Given the description of an element on the screen output the (x, y) to click on. 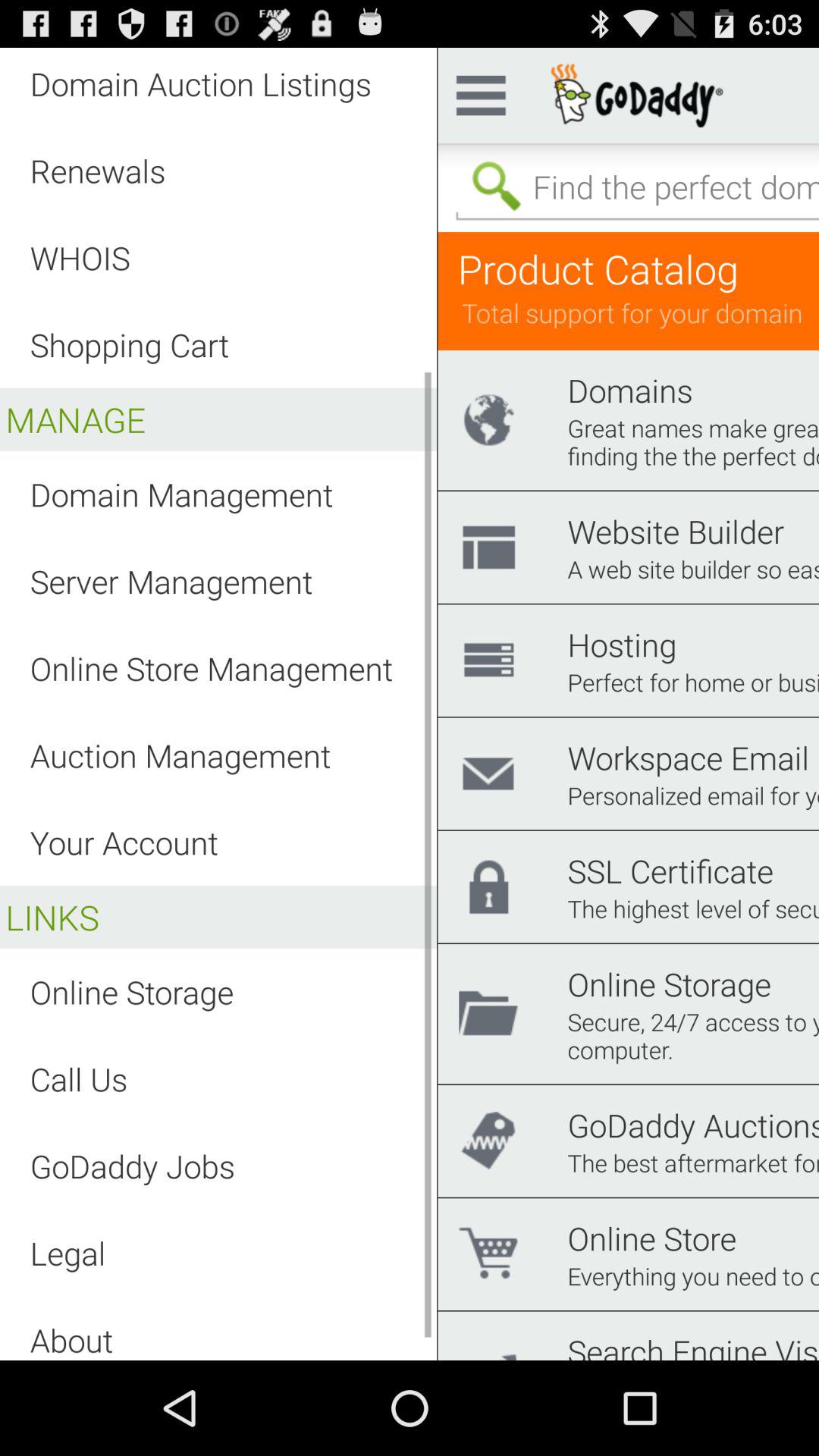
jump to the search engine visibility (693, 1344)
